Given the description of an element on the screen output the (x, y) to click on. 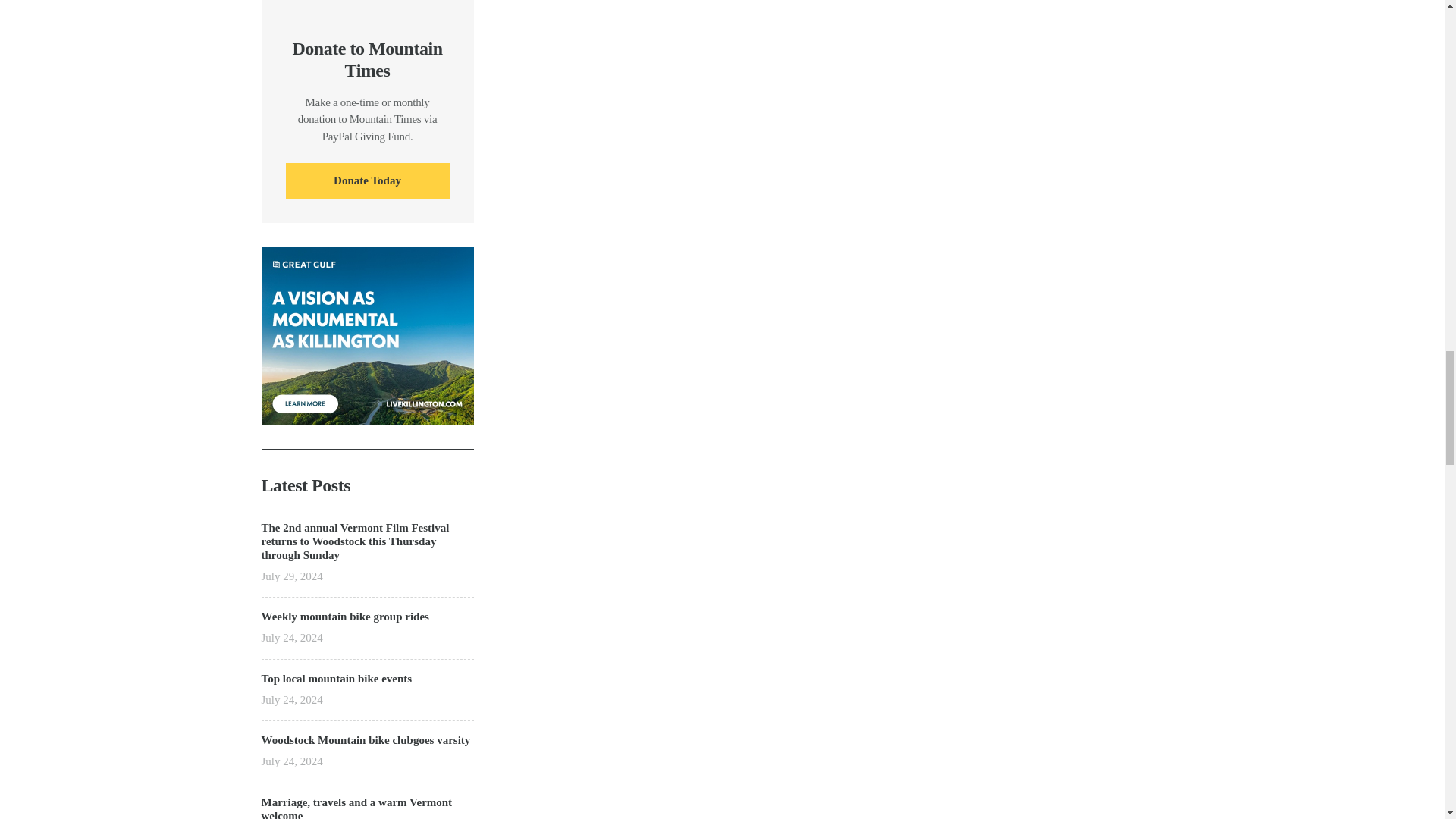
Donate Today (366, 180)
